Given the description of an element on the screen output the (x, y) to click on. 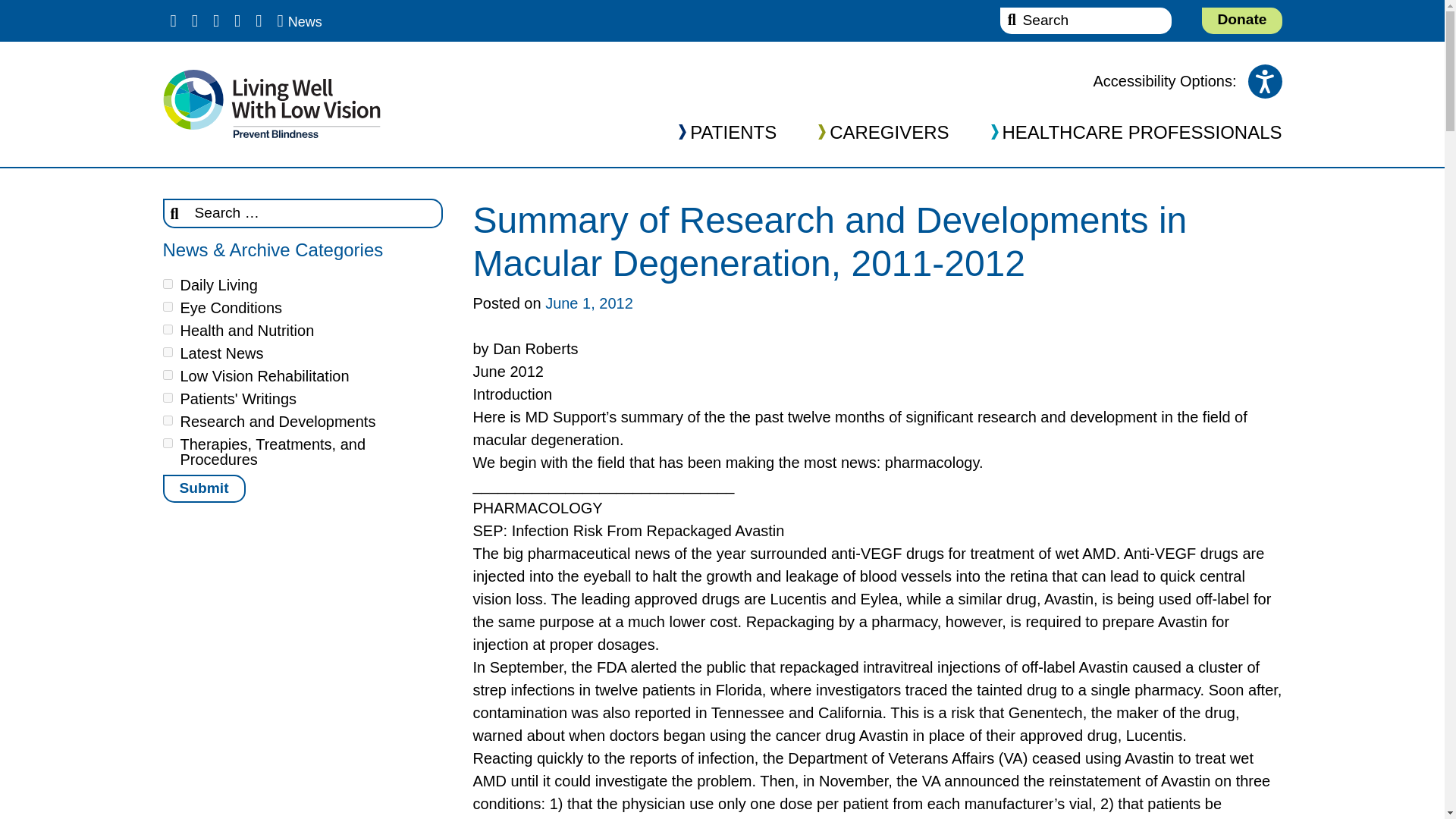
67 (166, 375)
Submit (202, 488)
21 (166, 352)
604 (166, 397)
96 (166, 307)
25 (166, 442)
65 (166, 284)
News (298, 20)
16 (166, 329)
23 (166, 420)
